Given the description of an element on the screen output the (x, y) to click on. 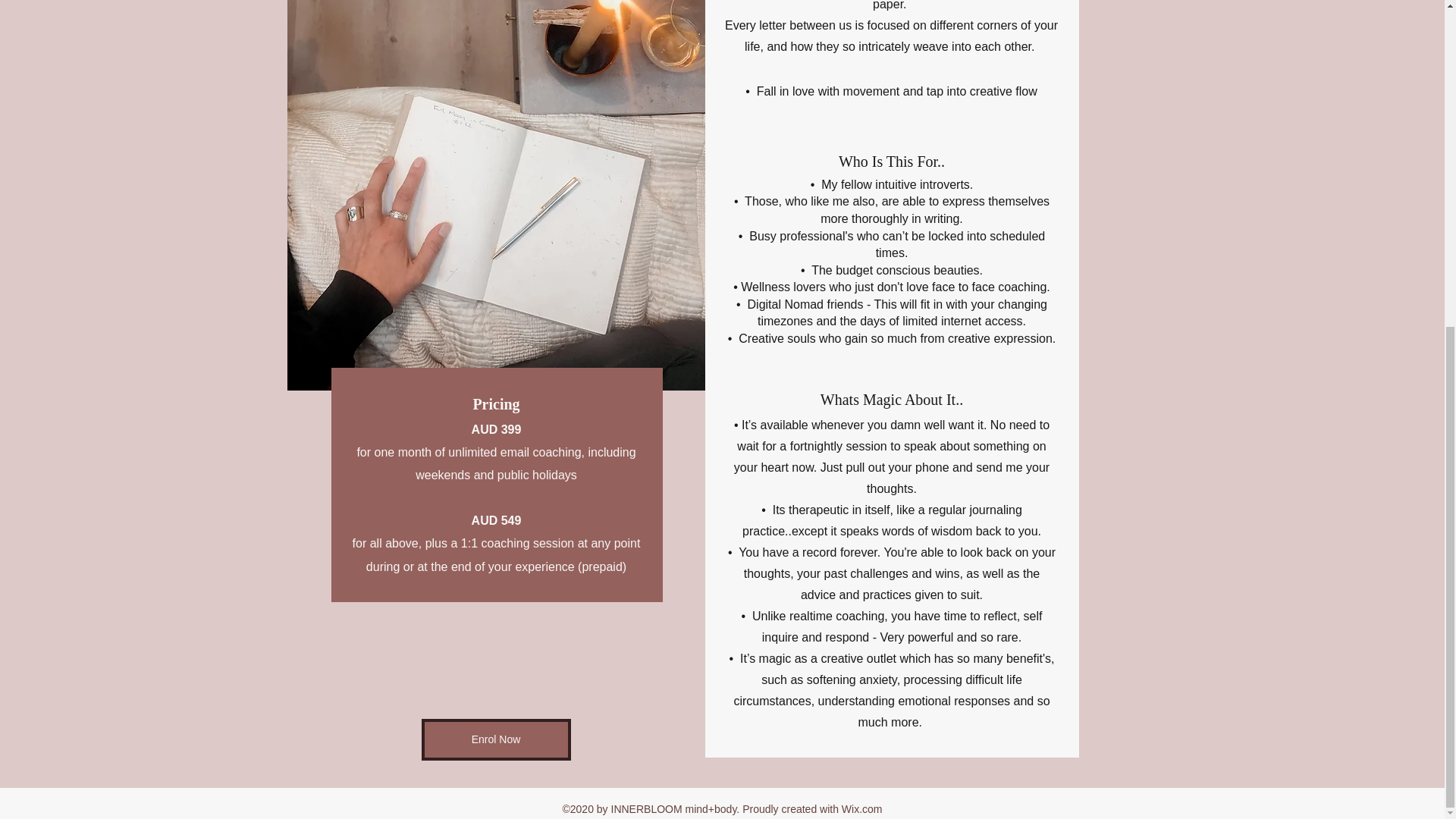
Enrol Now (496, 739)
